Given the description of an element on the screen output the (x, y) to click on. 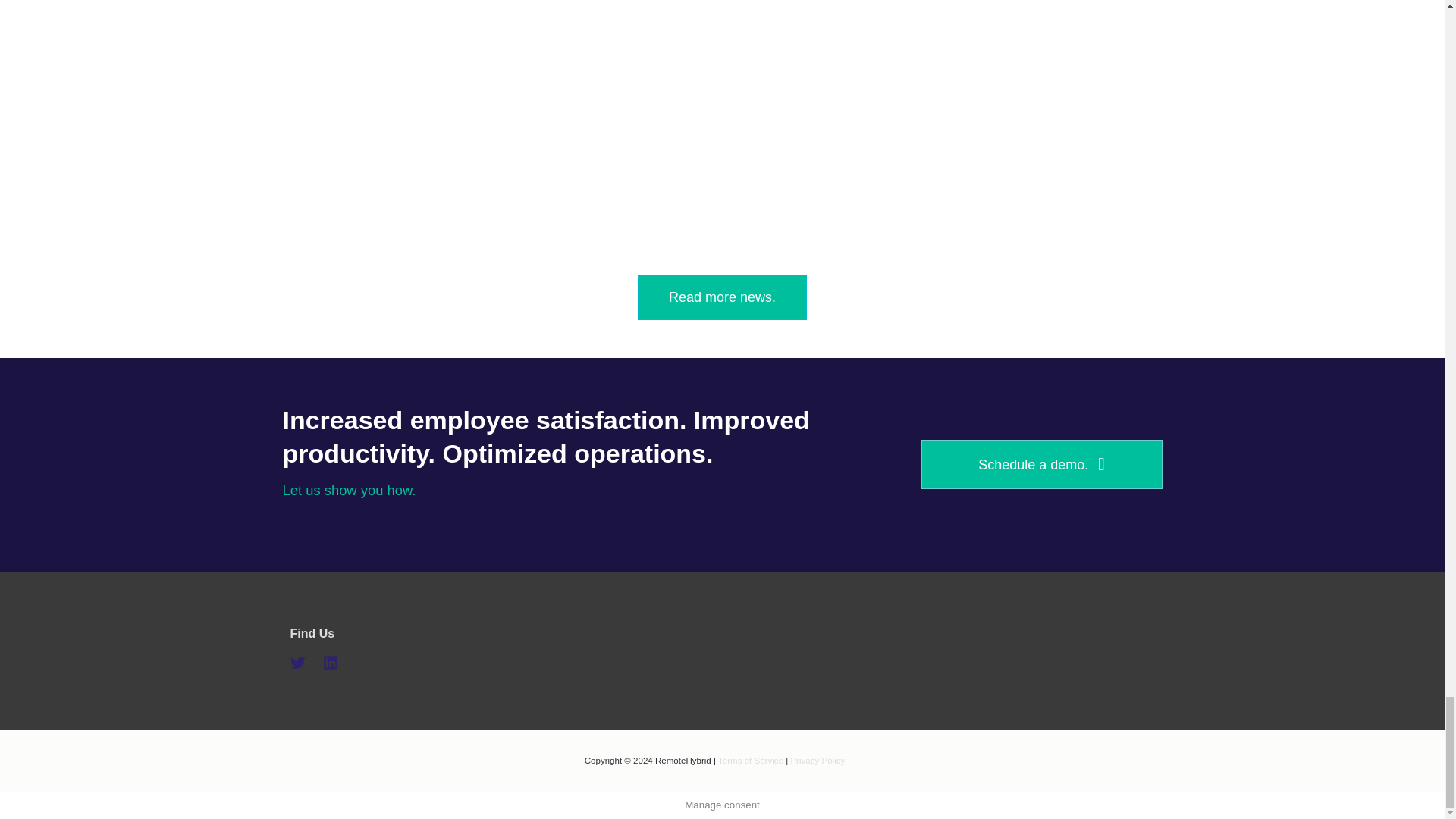
Privacy Policy (817, 759)
Terms of Service (750, 759)
Schedule a demo. (1040, 463)
Read more news. (721, 297)
